Given the description of an element on the screen output the (x, y) to click on. 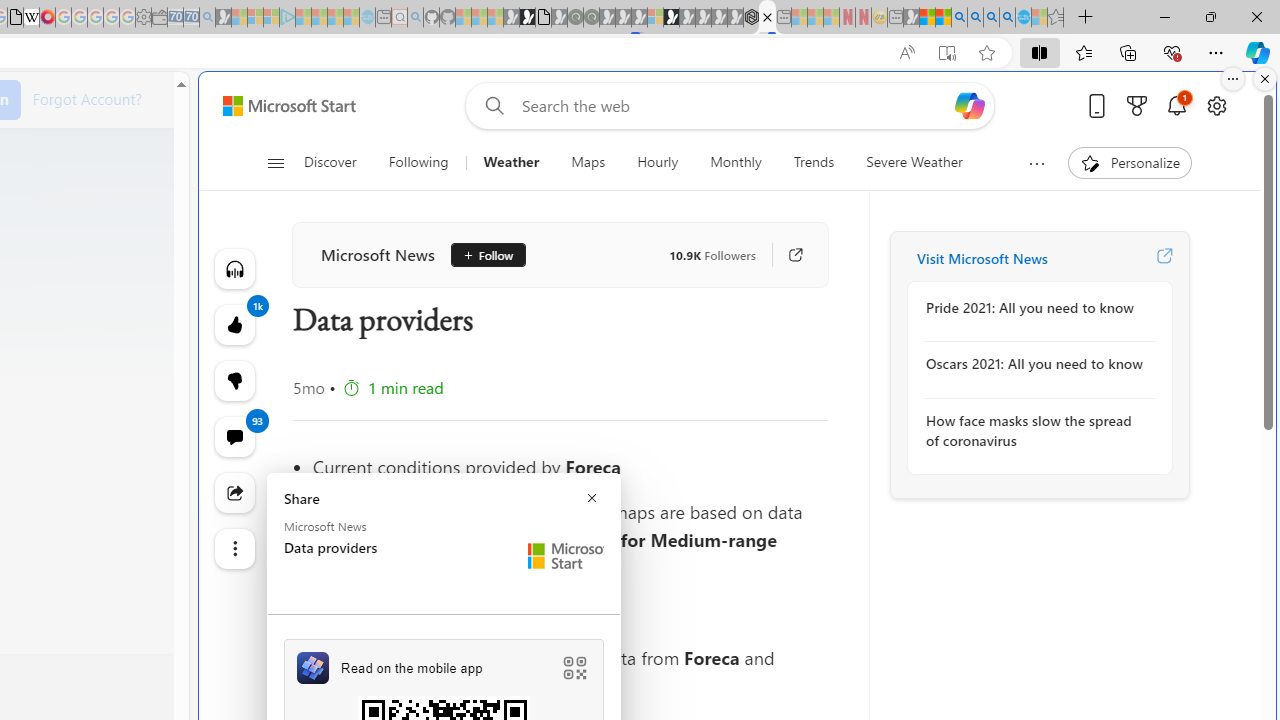
Other map data provided by Foreca (570, 613)
Maps (587, 162)
Favorites - Sleeping (1055, 17)
Bing AI - Search (959, 17)
Trends (813, 162)
